Given the description of an element on the screen output the (x, y) to click on. 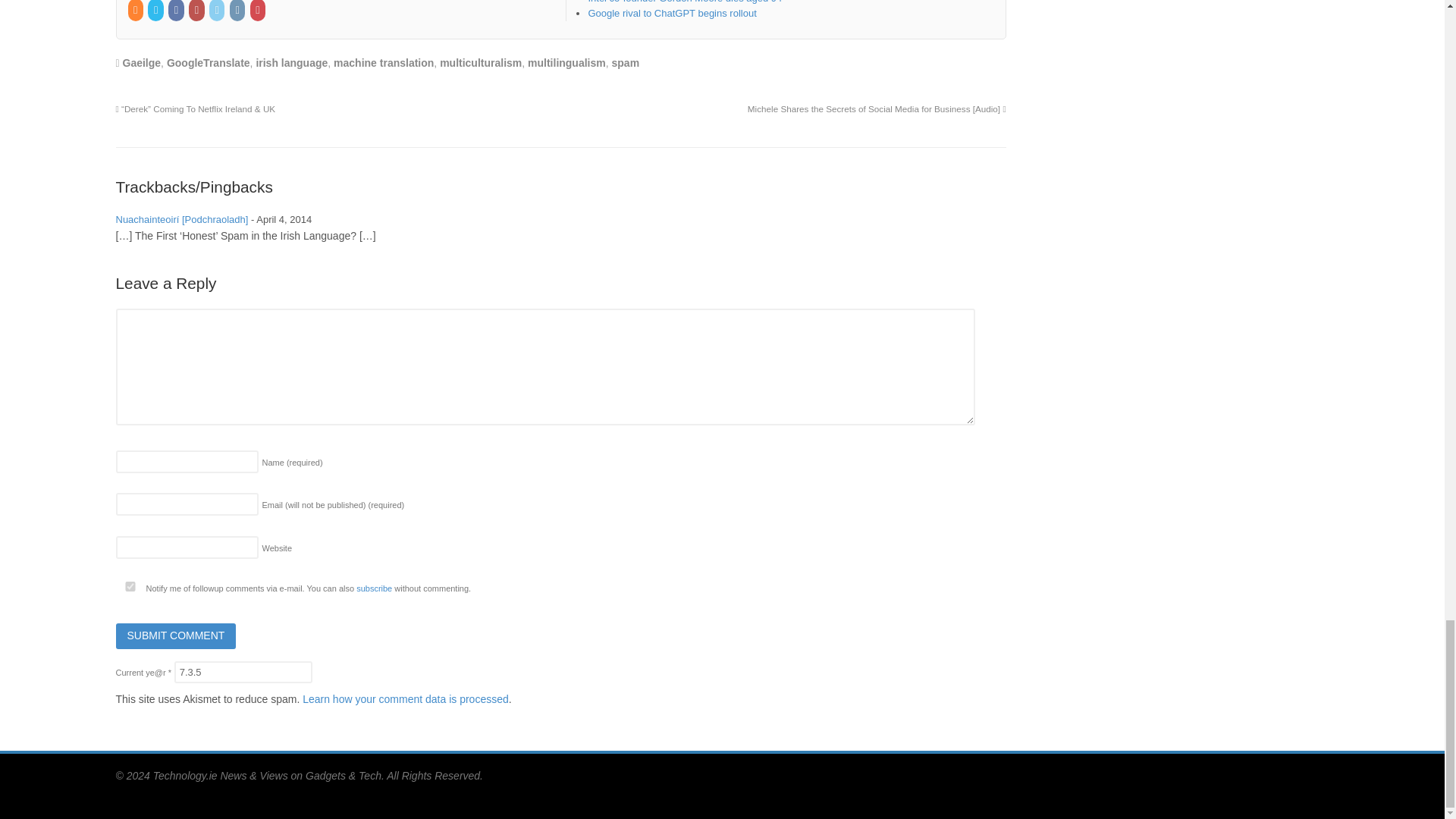
Twitter (156, 9)
Submit Comment (175, 636)
7.3.5 (243, 671)
yes (129, 586)
Facebook (177, 9)
RSS (136, 9)
YouTube (197, 9)
LinkedIn (218, 9)
